Given the description of an element on the screen output the (x, y) to click on. 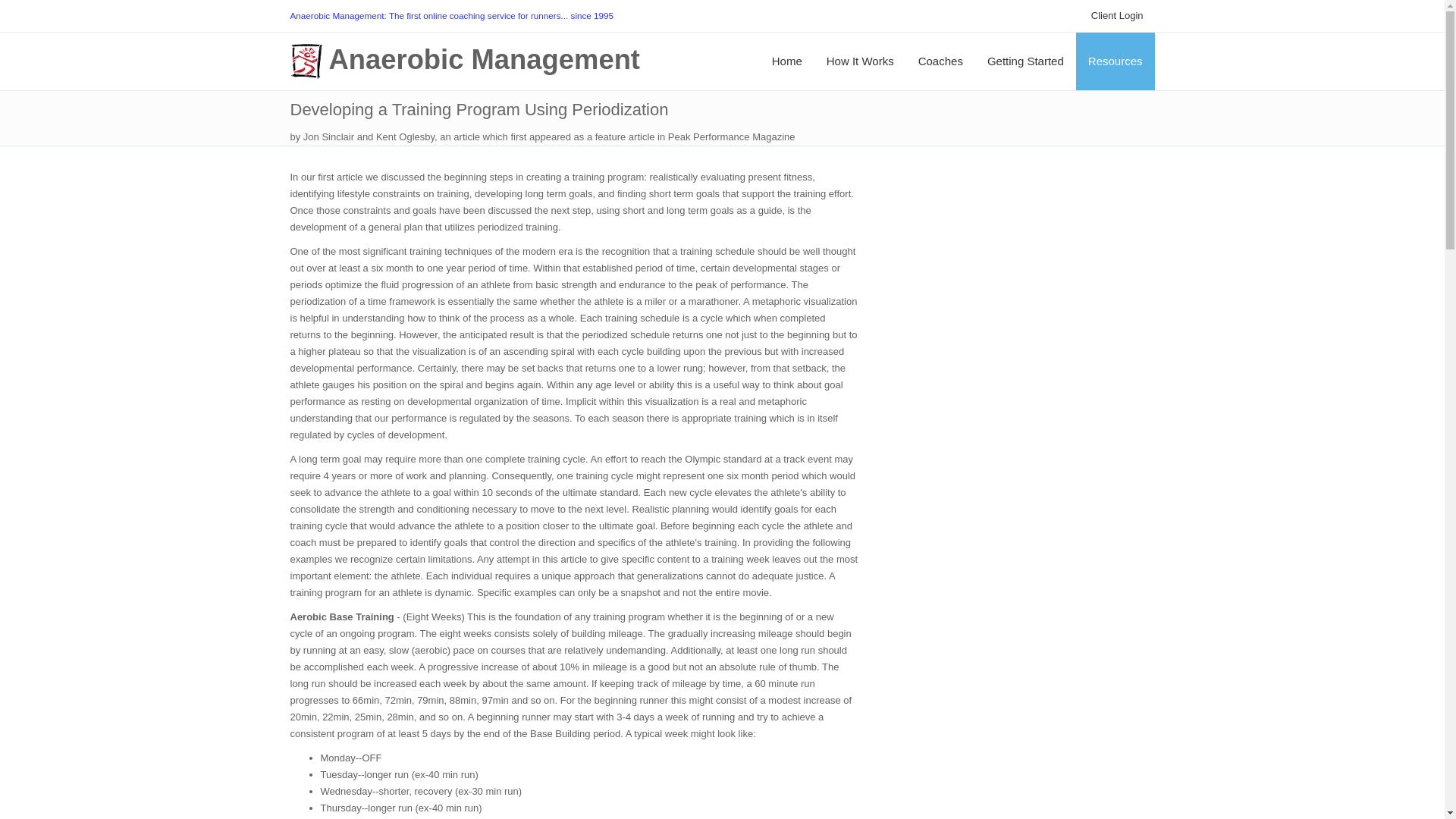
How It Works (859, 61)
Coaches (940, 61)
Anaerobic Management (465, 62)
Home (786, 61)
Resources (1114, 61)
Client Login (1117, 15)
Getting Started (1025, 61)
Anaerobic Management (465, 62)
